Given the description of an element on the screen output the (x, y) to click on. 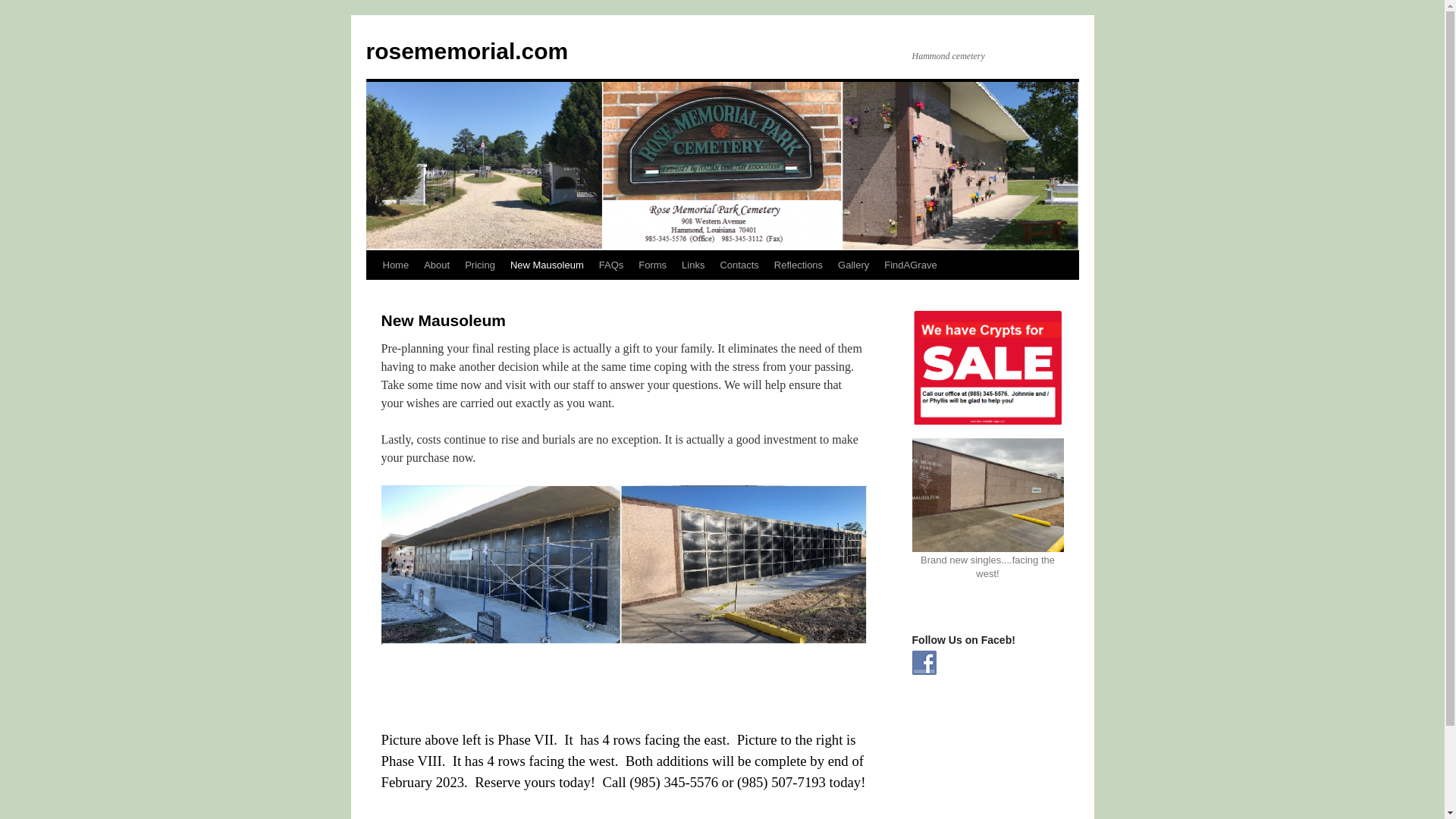
Forms (652, 265)
FAQs (611, 265)
Gallery (852, 265)
Reflections (798, 265)
About (436, 265)
rosememorial.com (466, 50)
Contacts (738, 265)
Home (395, 265)
FindAGrave (909, 265)
Pricing (479, 265)
rosememorial.com (466, 50)
New Mausoleum (546, 265)
Follow Us on Facebook (923, 662)
Links (692, 265)
